Given the description of an element on the screen output the (x, y) to click on. 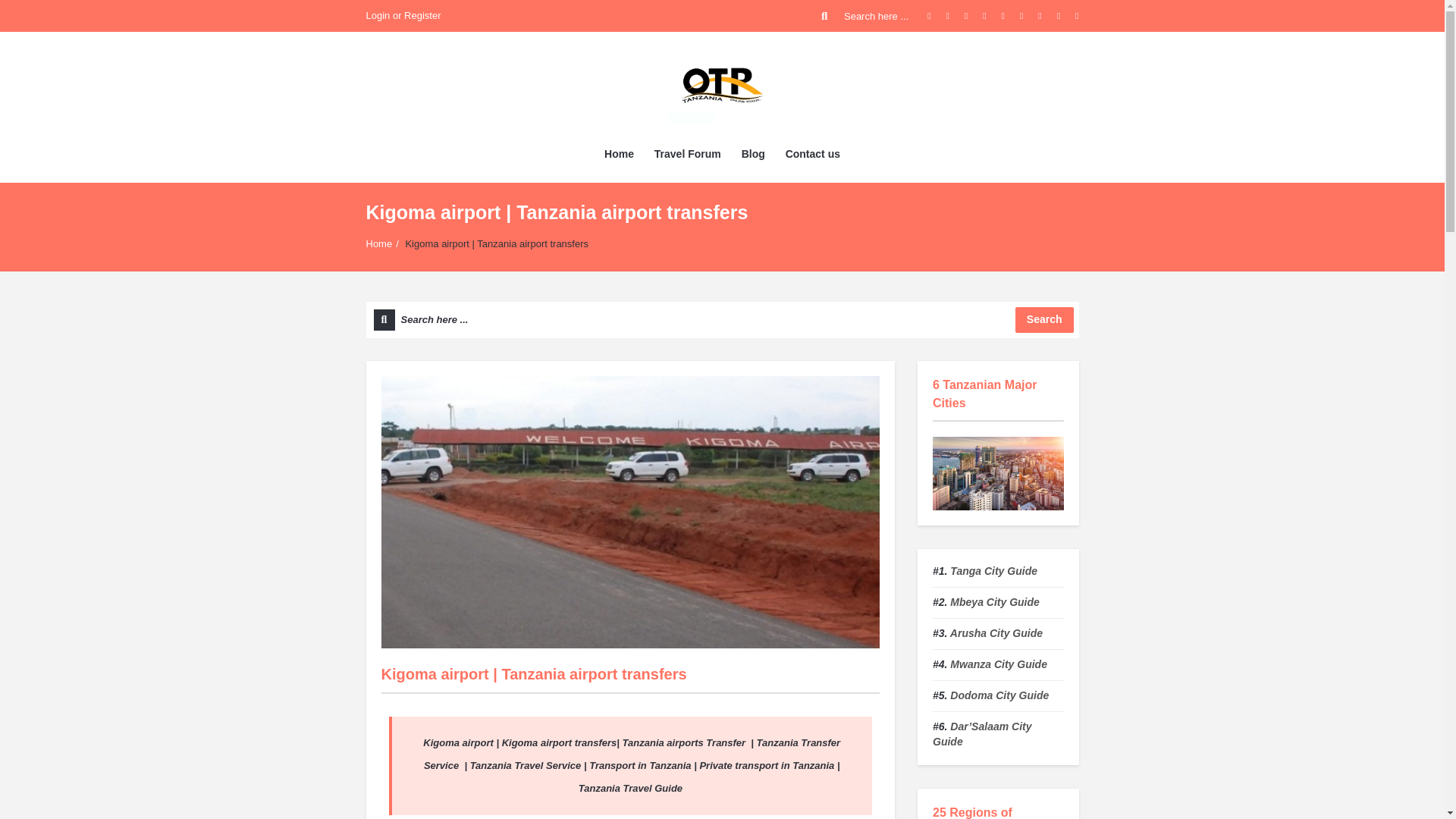
Search here ... (721, 320)
Search here ... (866, 15)
Search here ... (721, 320)
Login or Register (403, 15)
Tanzania Travel Guide  (721, 84)
Search here ... (866, 15)
